Given the description of an element on the screen output the (x, y) to click on. 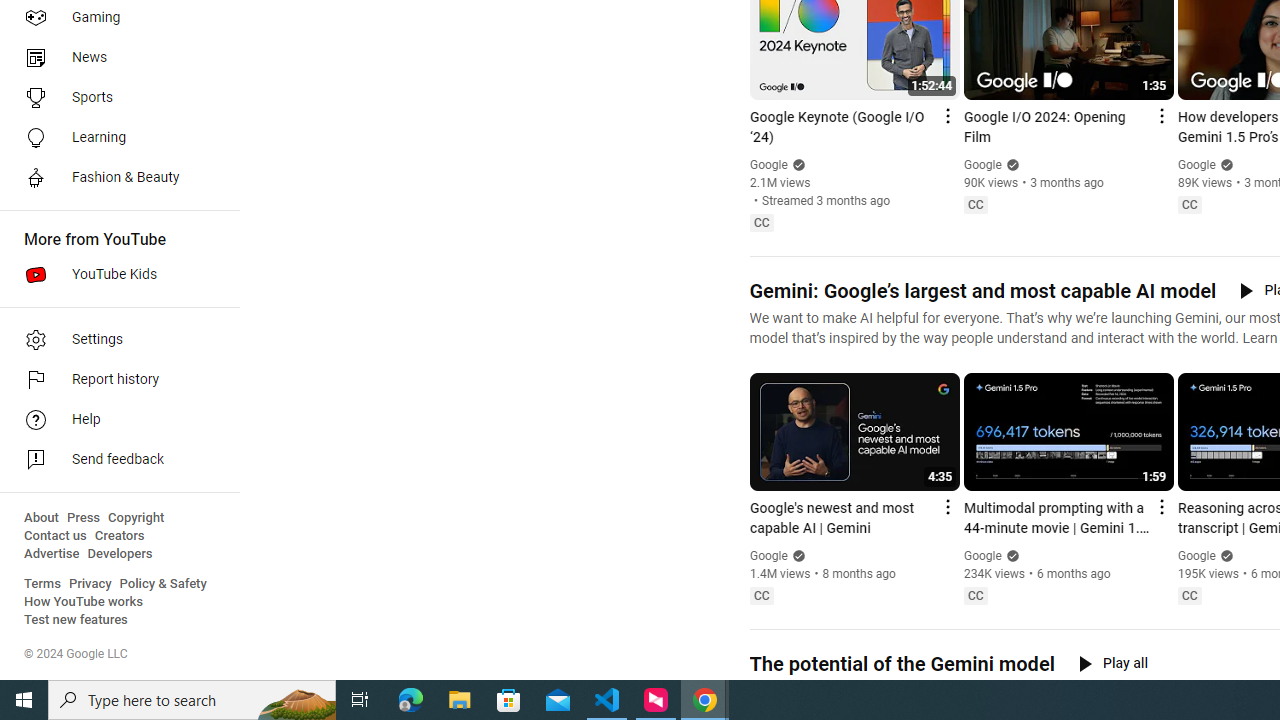
How YouTube works (83, 602)
